Given the description of an element on the screen output the (x, y) to click on. 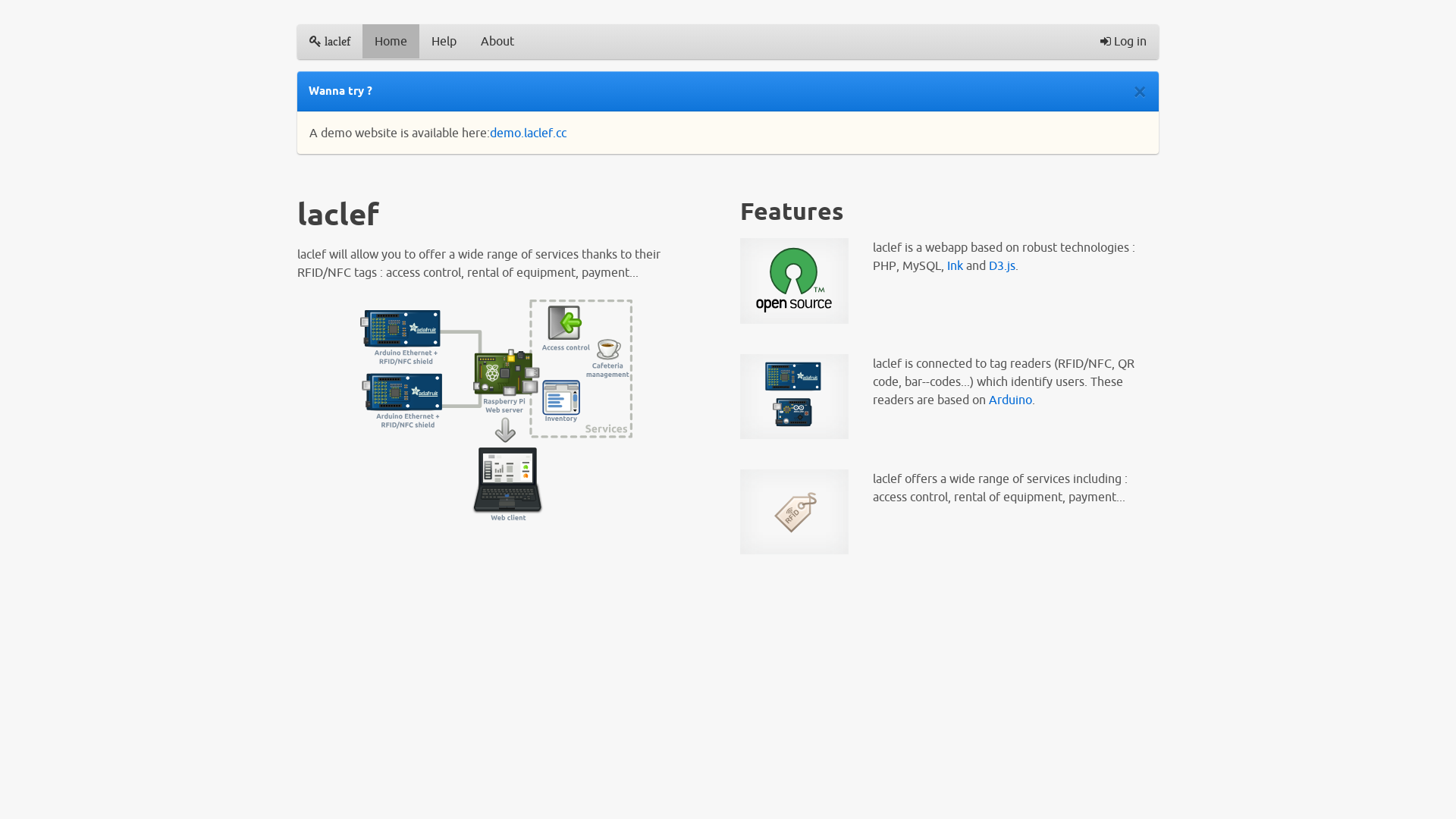
demo.laclef.cc Element type: text (527, 132)
D3.js Element type: text (1001, 265)
laclef Element type: text (329, 41)
Home Element type: text (390, 41)
Arduino Element type: text (1010, 399)
Log in Element type: text (1123, 41)
Help Element type: text (443, 41)
Ink Element type: text (955, 265)
About Element type: text (497, 41)
